Given the description of an element on the screen output the (x, y) to click on. 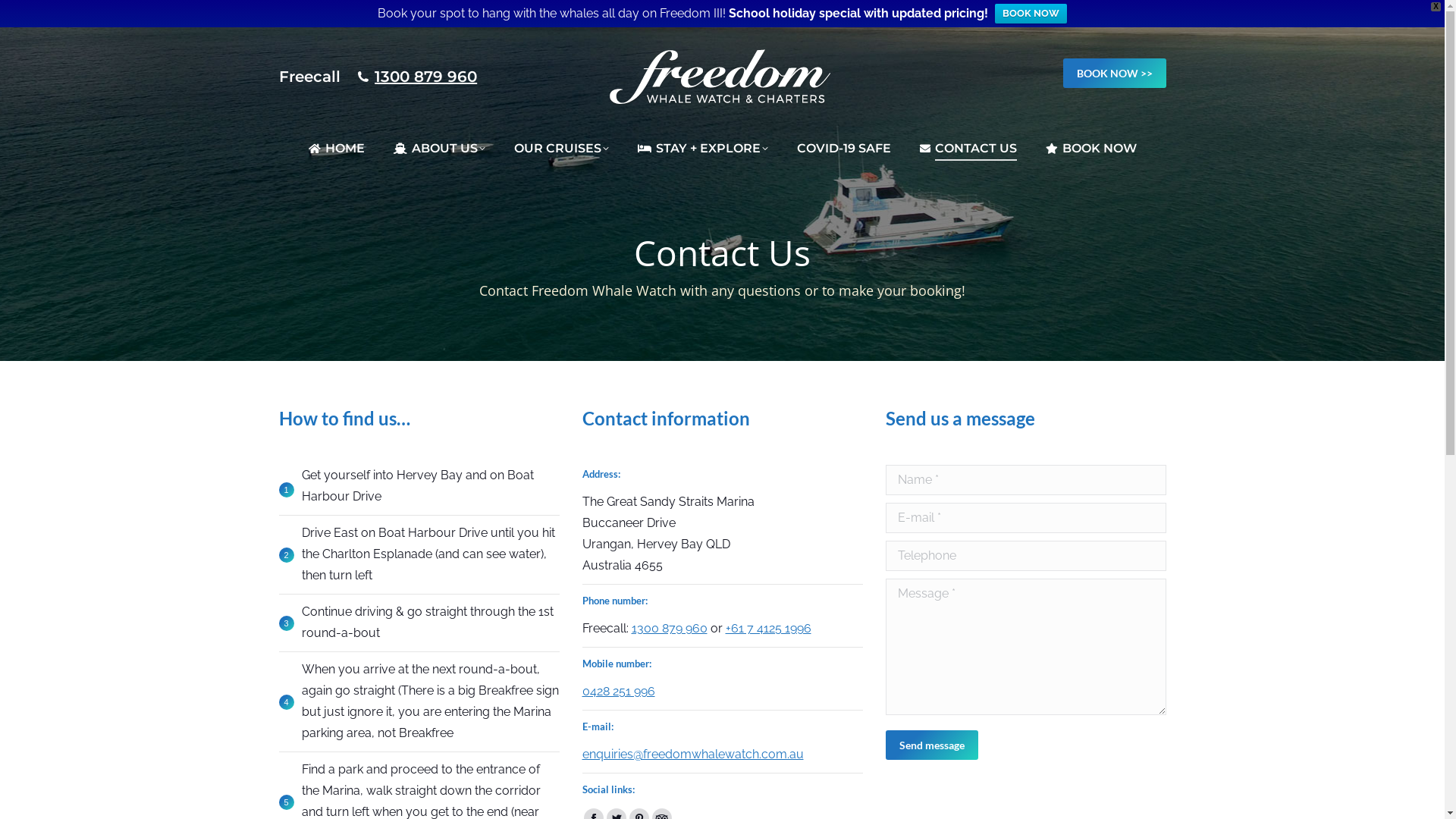
enquiries@freedomwhalewatch.com.au Element type: text (692, 753)
COVID-19 SAFE Element type: text (843, 148)
OUR CRUISES Element type: text (560, 148)
submit Element type: text (1016, 746)
STAY + EXPLORE Element type: text (702, 148)
Send message Element type: text (931, 744)
CONTACT US Element type: text (968, 148)
ABOUT US Element type: text (439, 148)
0428 251 996 Element type: text (618, 691)
HOME Element type: text (336, 148)
BOOK NOW >> Element type: text (1114, 72)
BOOK NOW Element type: text (1090, 148)
BOOK NOW Element type: text (1030, 13)
+61 7 4125 1996 Element type: text (767, 628)
1300 879 960 Element type: text (668, 628)
1300 879 960 Element type: text (425, 76)
